Given the description of an element on the screen output the (x, y) to click on. 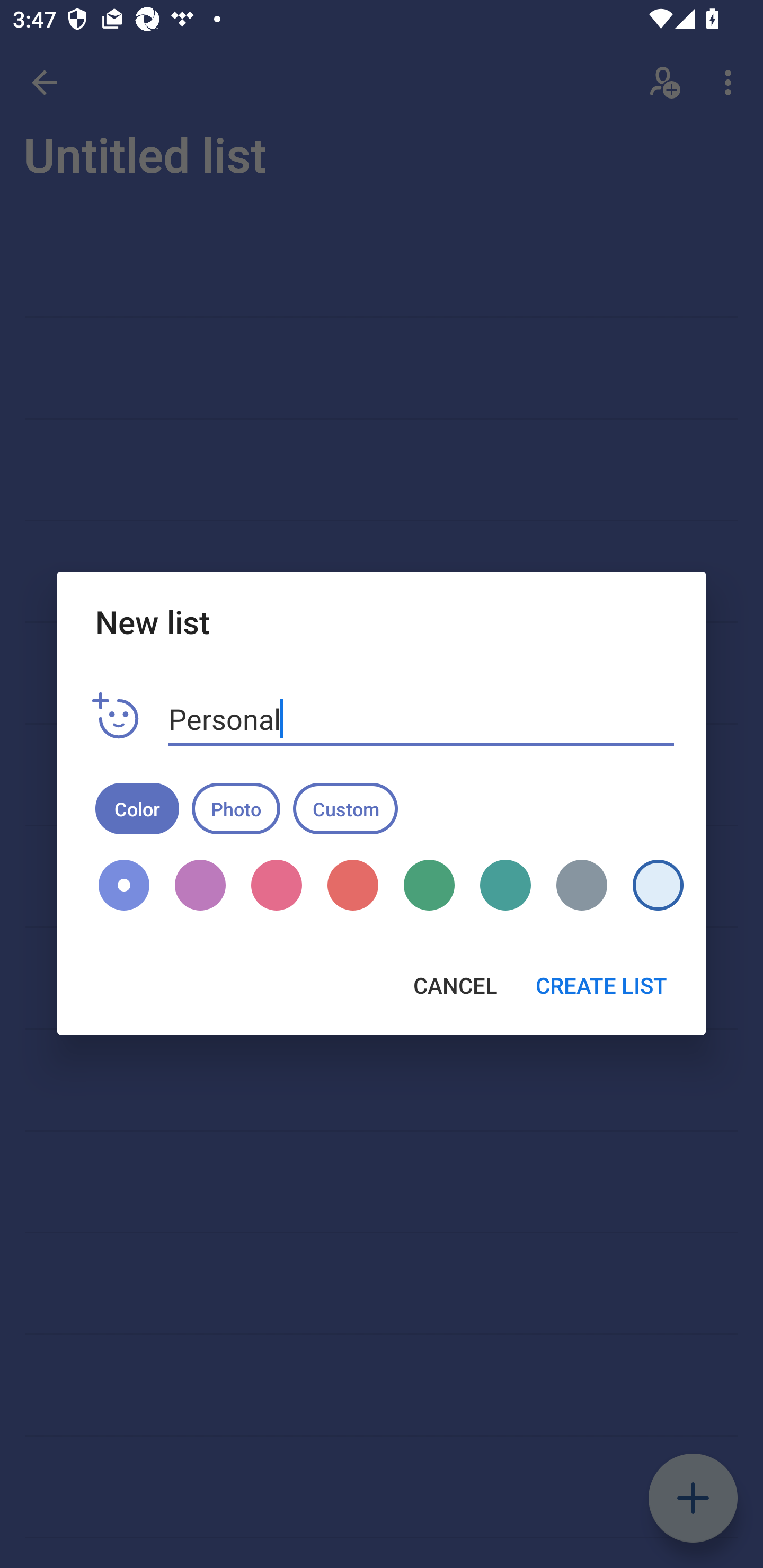
CREATE LIST (601, 985)
